Given the description of an element on the screen output the (x, y) to click on. 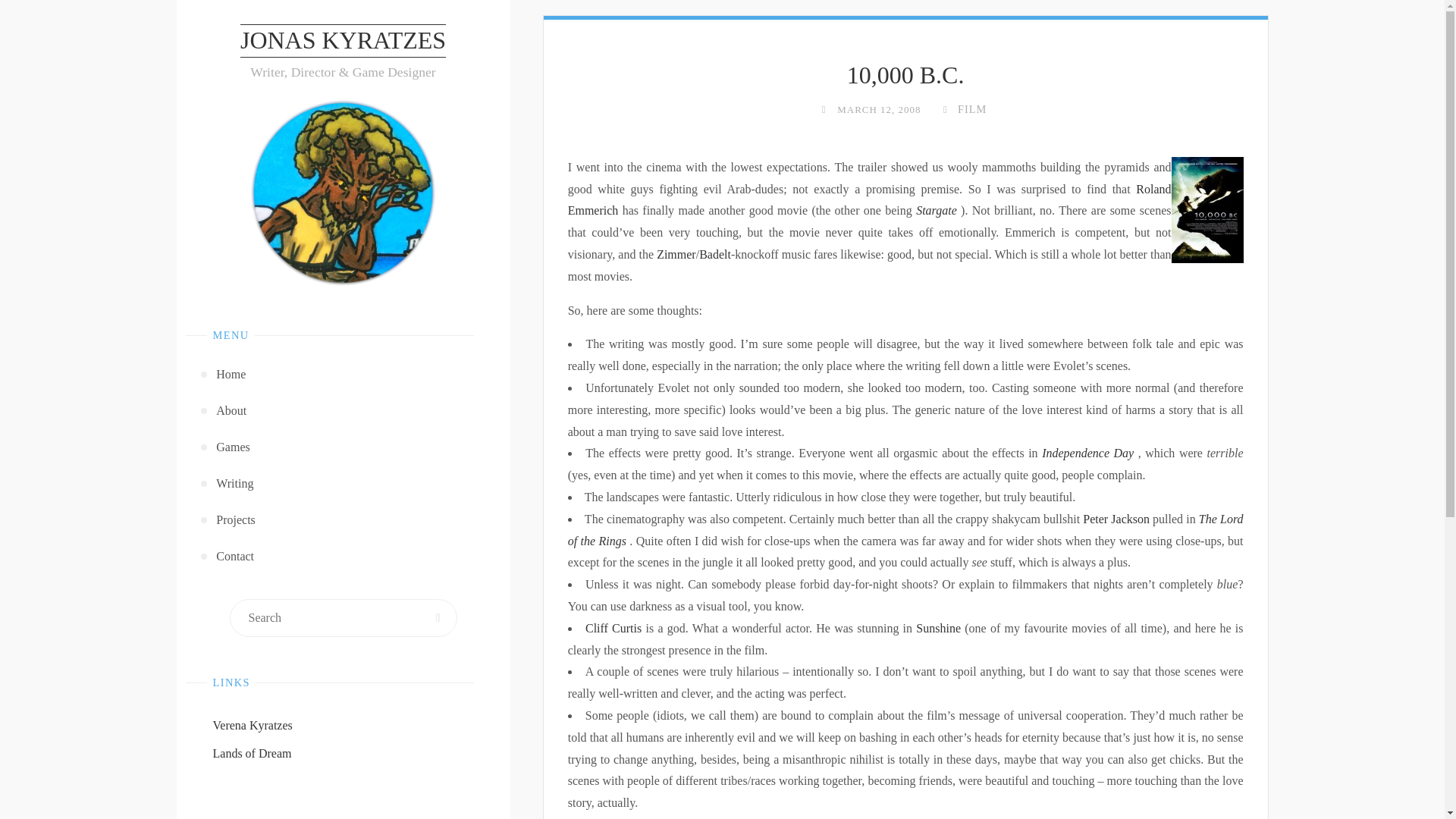
Writing (344, 484)
Verena Kyratzes (252, 725)
JONAS KYRATZES (342, 40)
Independence Day (1088, 452)
Cliff Curtis (613, 627)
Badelt (714, 254)
About (344, 411)
Projects (344, 520)
Zimmer (675, 254)
The Lord of the Rings (905, 529)
Date (823, 109)
Stargate (935, 210)
Contact (344, 556)
Home (344, 374)
FILM (971, 109)
